Given the description of an element on the screen output the (x, y) to click on. 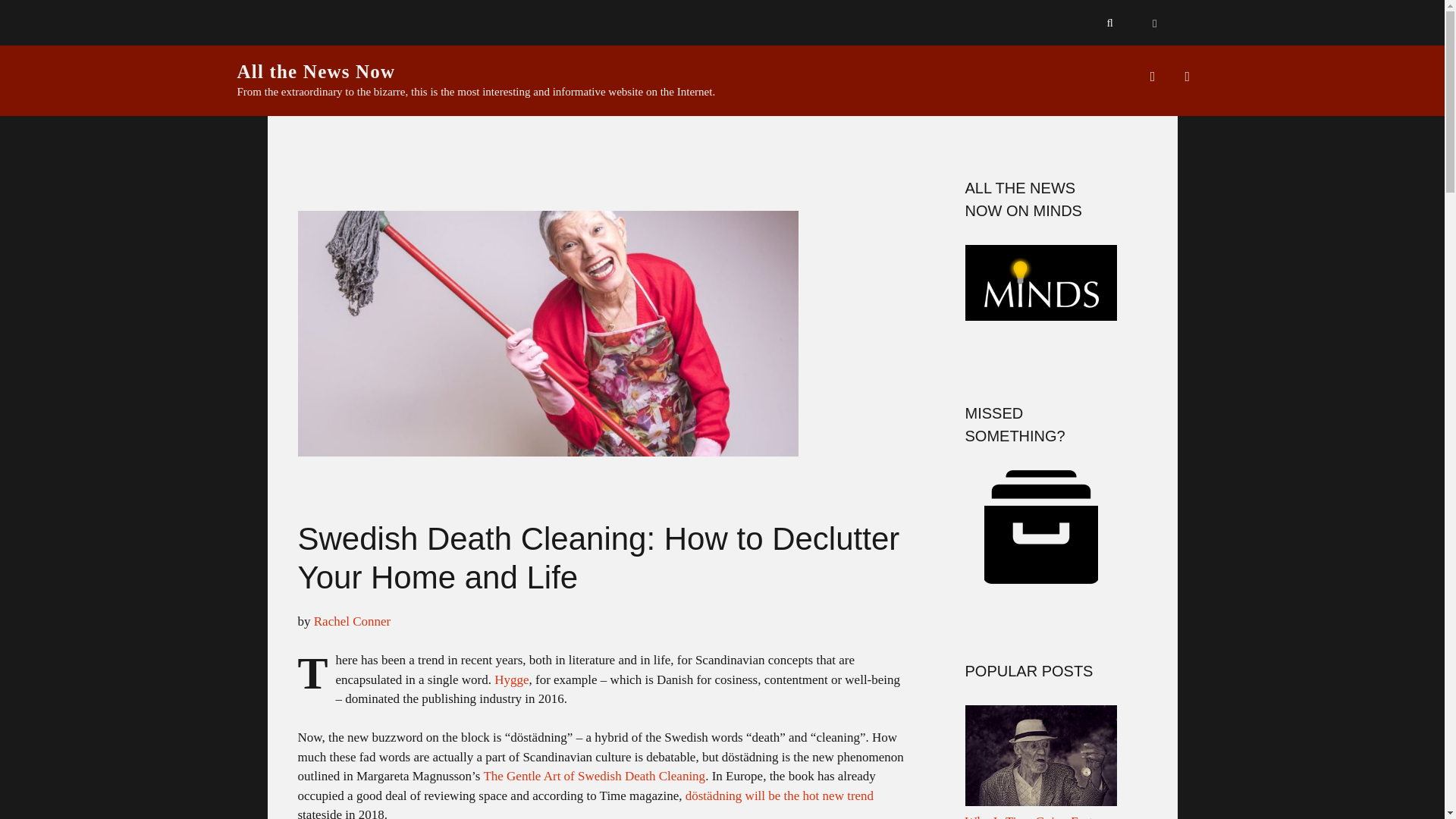
The Gentle Art of Swedish Death Cleaning (593, 775)
All the News Now (314, 71)
Why Is Time Going Faster as We Age? (1039, 816)
Hygge (511, 679)
Rachel Conner (352, 621)
